Given the description of an element on the screen output the (x, y) to click on. 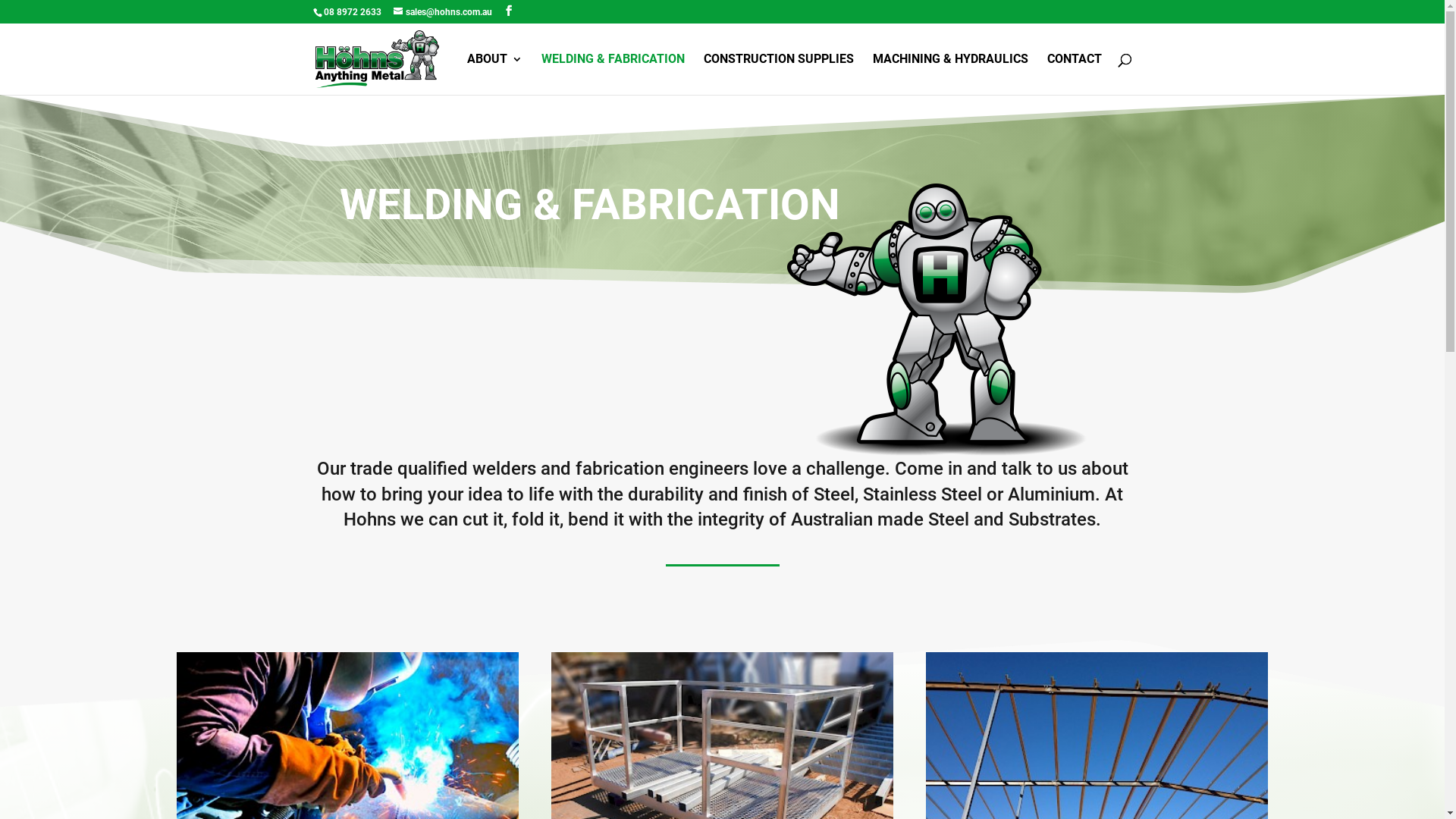
ABOUT Element type: text (494, 73)
WELDING & FABRICATION Element type: text (612, 73)
sales@hohns.com.au Element type: text (441, 11)
CONTACT Element type: text (1073, 73)
MACHINING & HYDRAULICS Element type: text (949, 73)
CONSTRUCTION SUPPLIES Element type: text (778, 73)
